Given the description of an element on the screen output the (x, y) to click on. 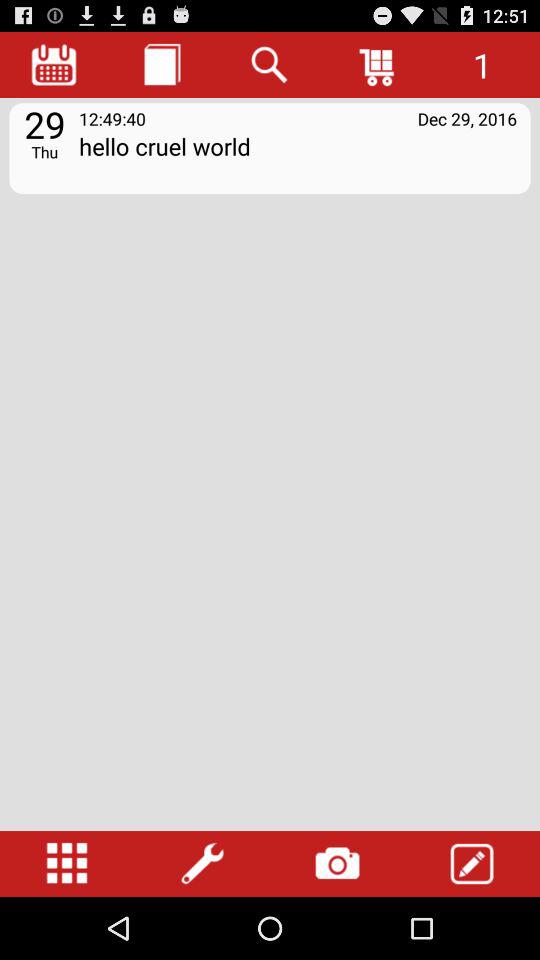
go to settings (202, 863)
